Given the description of an element on the screen output the (x, y) to click on. 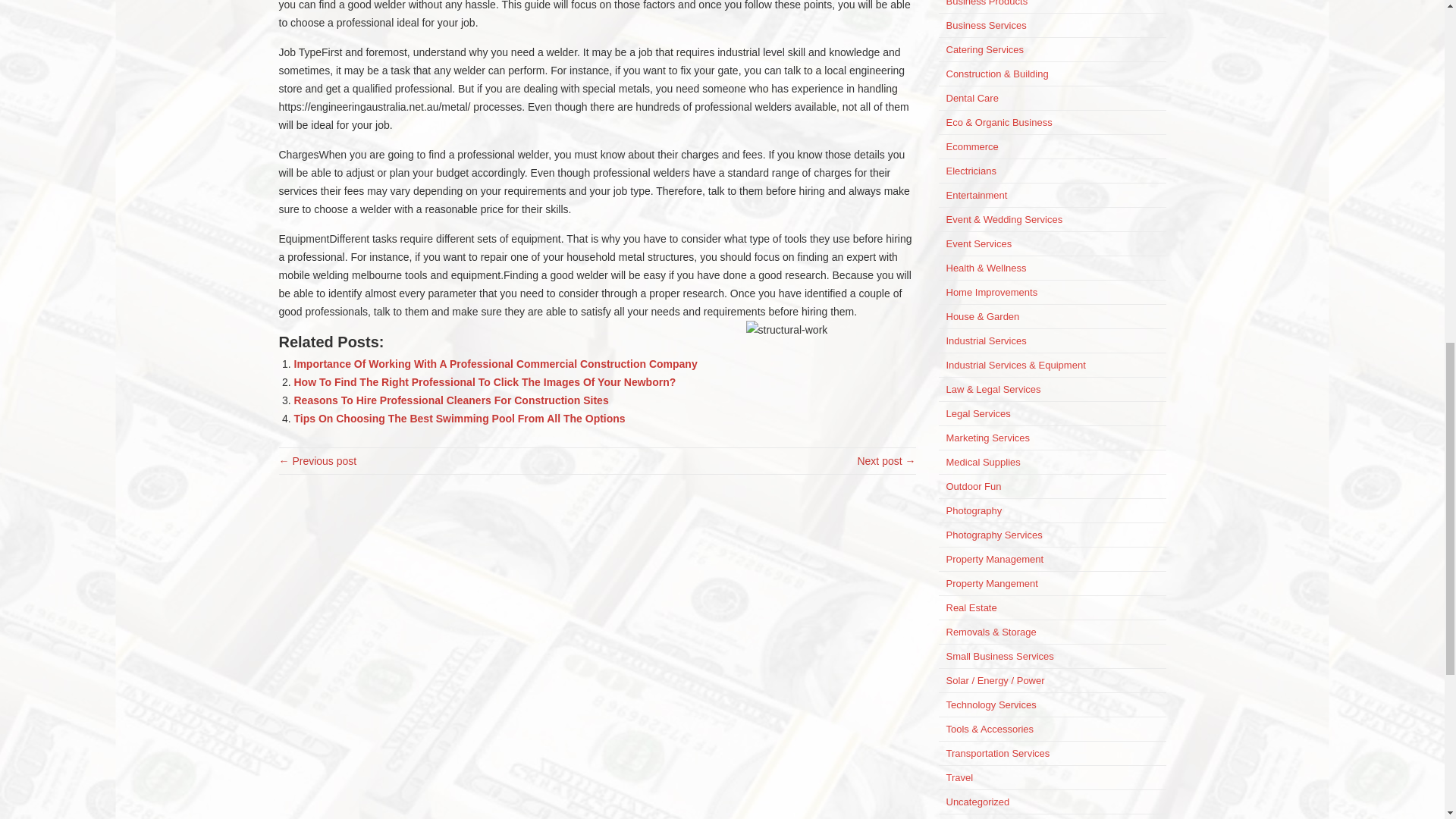
Home Improvements (992, 292)
Event Services (978, 243)
Ways To Make Your Home Energy Efficient (317, 460)
Business Products (986, 3)
Ecommerce (972, 146)
Dental Care (972, 98)
Electricians (970, 170)
Business Services (986, 25)
Tips On Choosing The Best Swimming Pool From All The Options (460, 418)
Entertainment (976, 194)
Reasons To Hire Professional Cleaners For Construction Sites (451, 399)
